Given the description of an element on the screen output the (x, y) to click on. 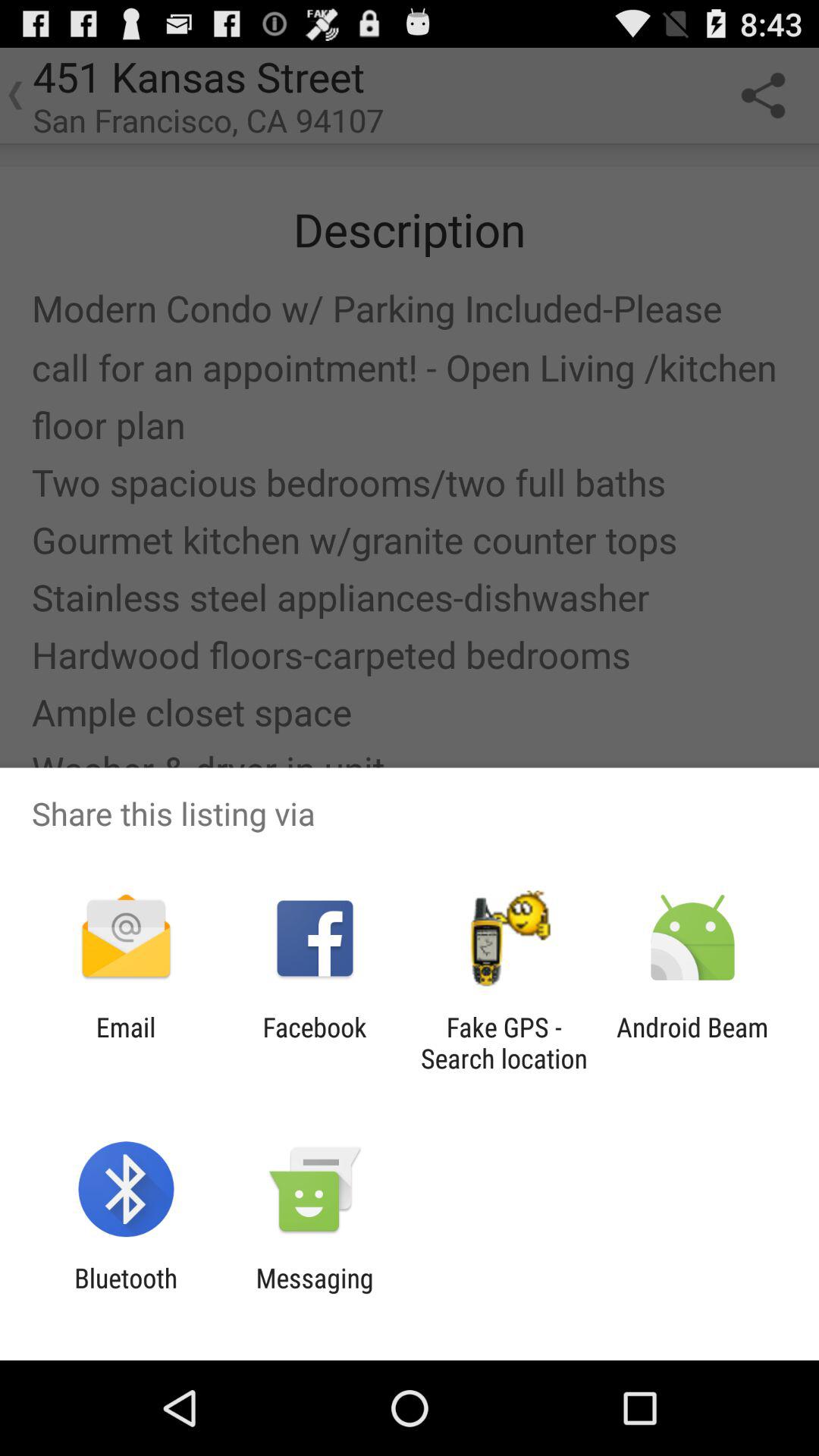
click item next to the bluetooth item (314, 1293)
